Given the description of an element on the screen output the (x, y) to click on. 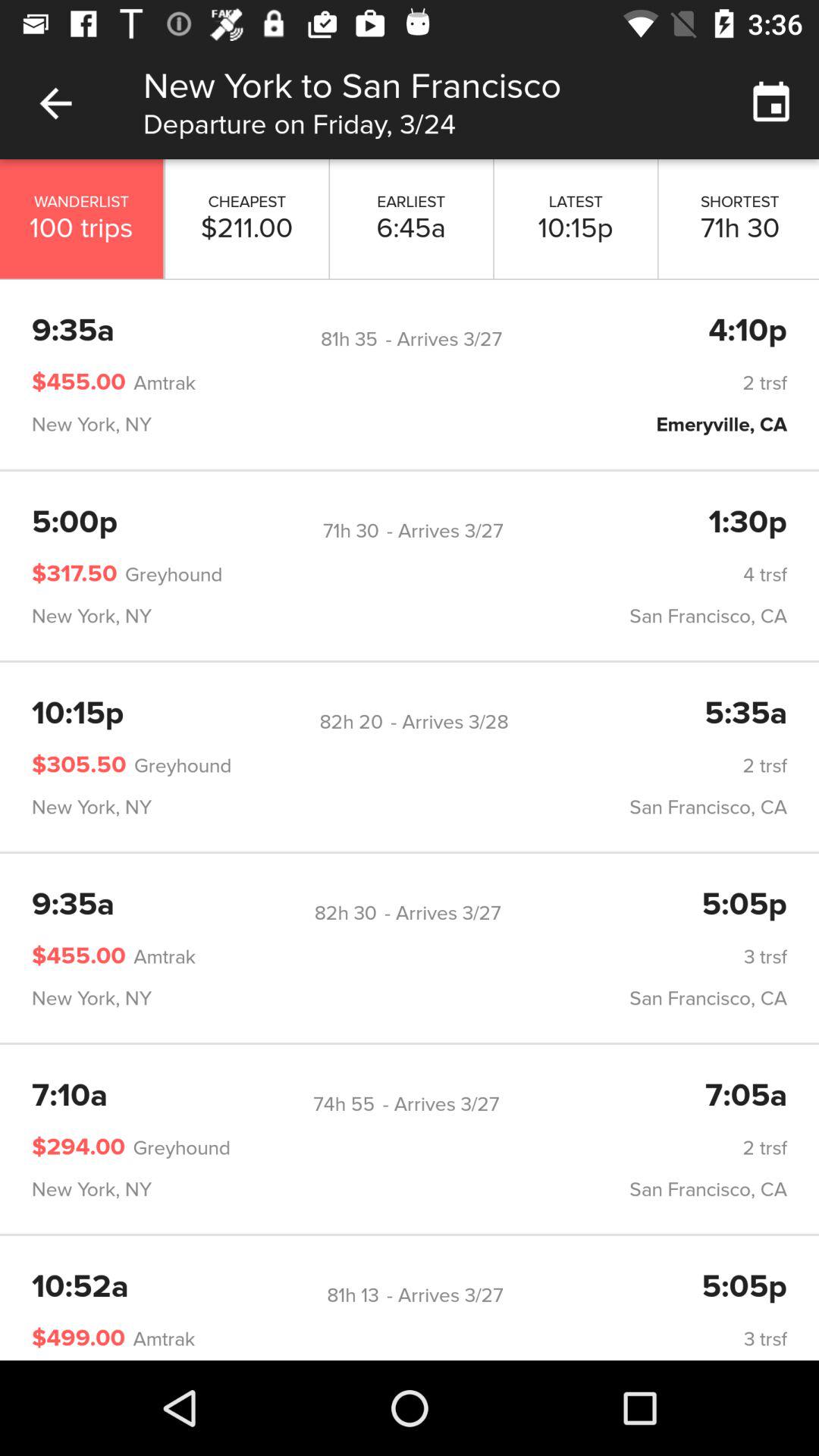
press icon next to 10:52a icon (352, 1295)
